Given the description of an element on the screen output the (x, y) to click on. 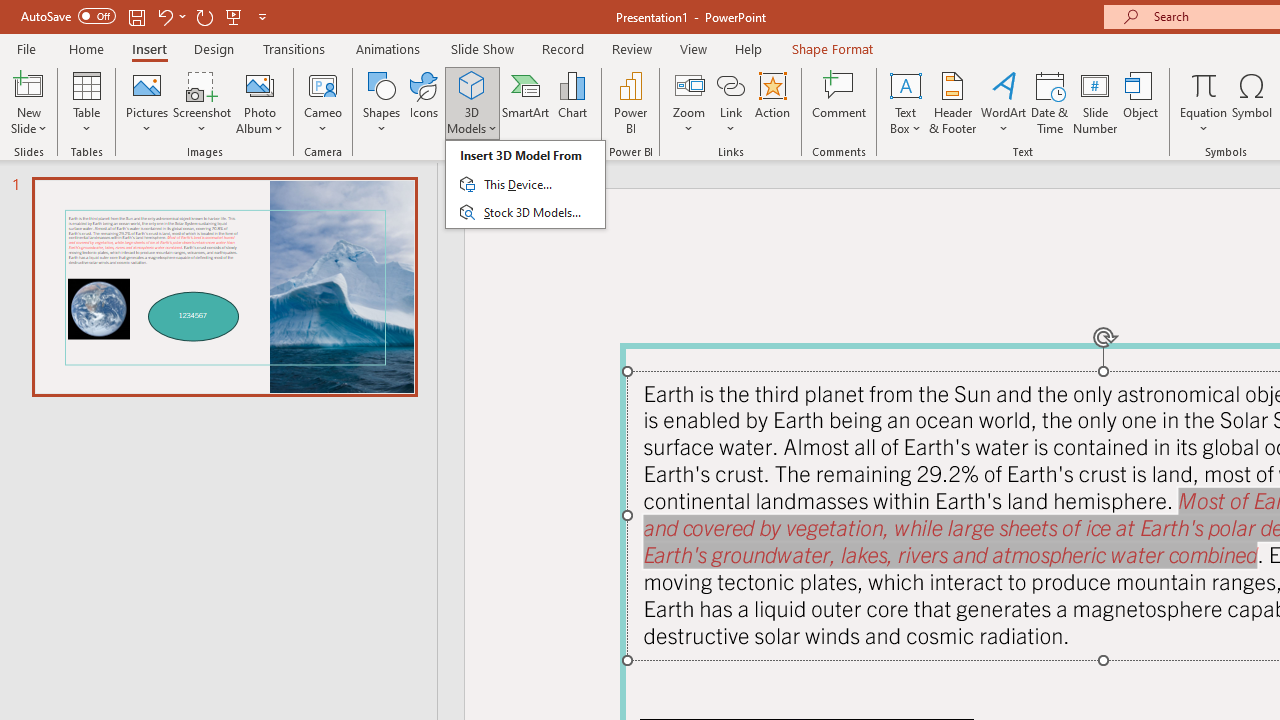
New Photo Album... (259, 84)
Comment (839, 102)
Symbol... (1252, 102)
Icons (424, 102)
&3D Models (525, 183)
Screenshot (202, 102)
